Given the description of an element on the screen output the (x, y) to click on. 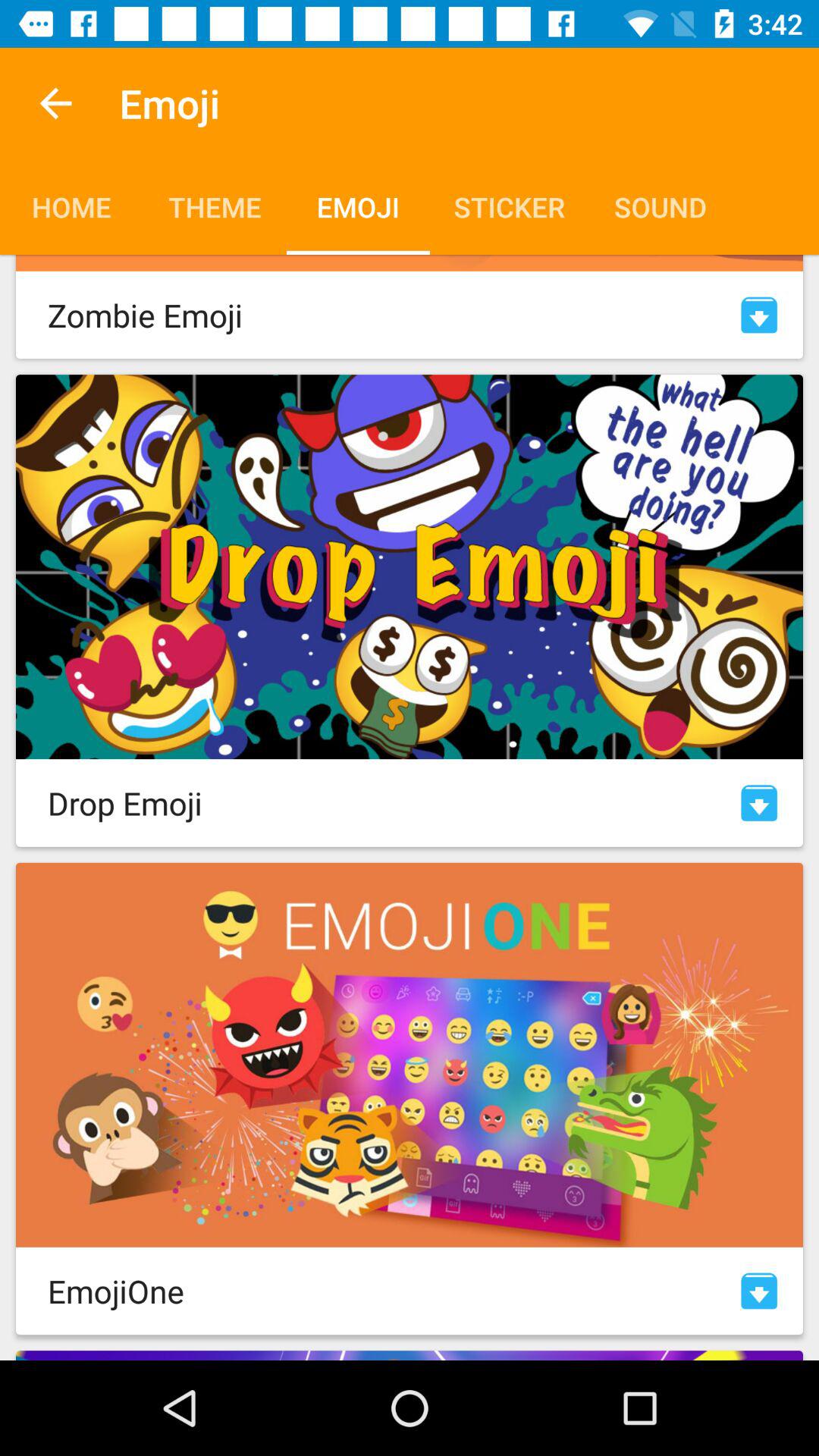
open zombie emojis (759, 314)
